Given the description of an element on the screen output the (x, y) to click on. 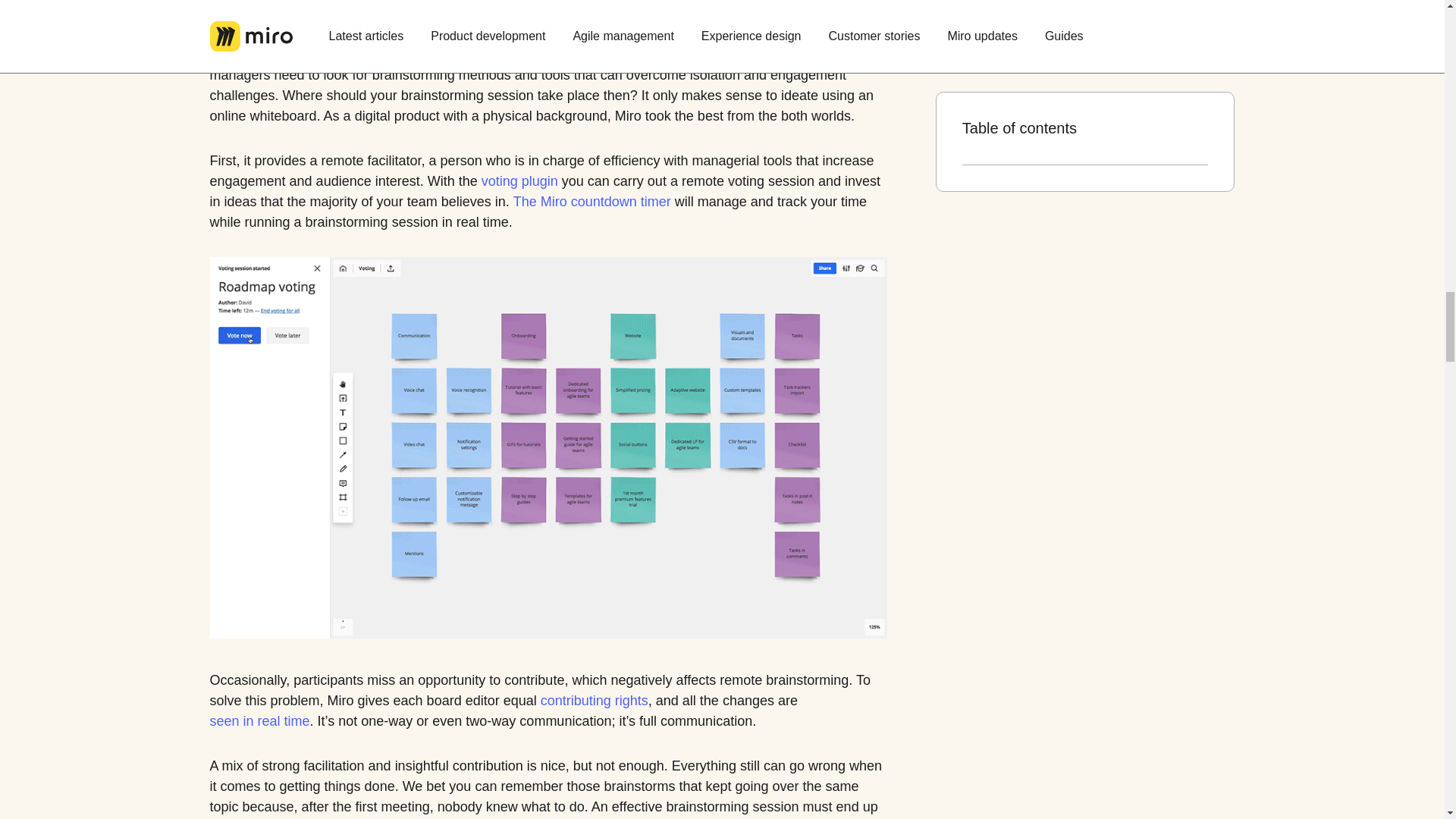
contributing rights (593, 701)
seen in real time (258, 721)
action plan (290, 818)
voting plugin (519, 181)
The Miro countdown timer (592, 201)
